Given the description of an element on the screen output the (x, y) to click on. 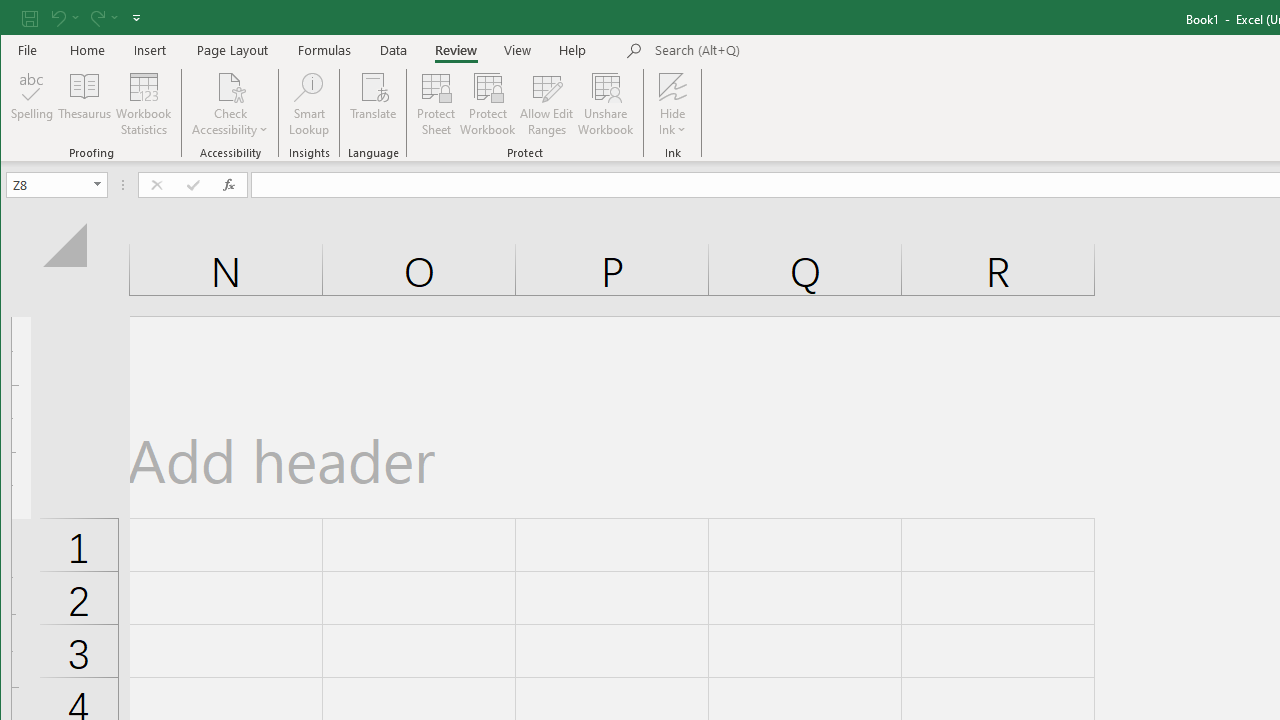
Spelling... (32, 104)
Thesaurus... (84, 104)
Protect Sheet... (436, 104)
Workbook Statistics (143, 104)
